Given the description of an element on the screen output the (x, y) to click on. 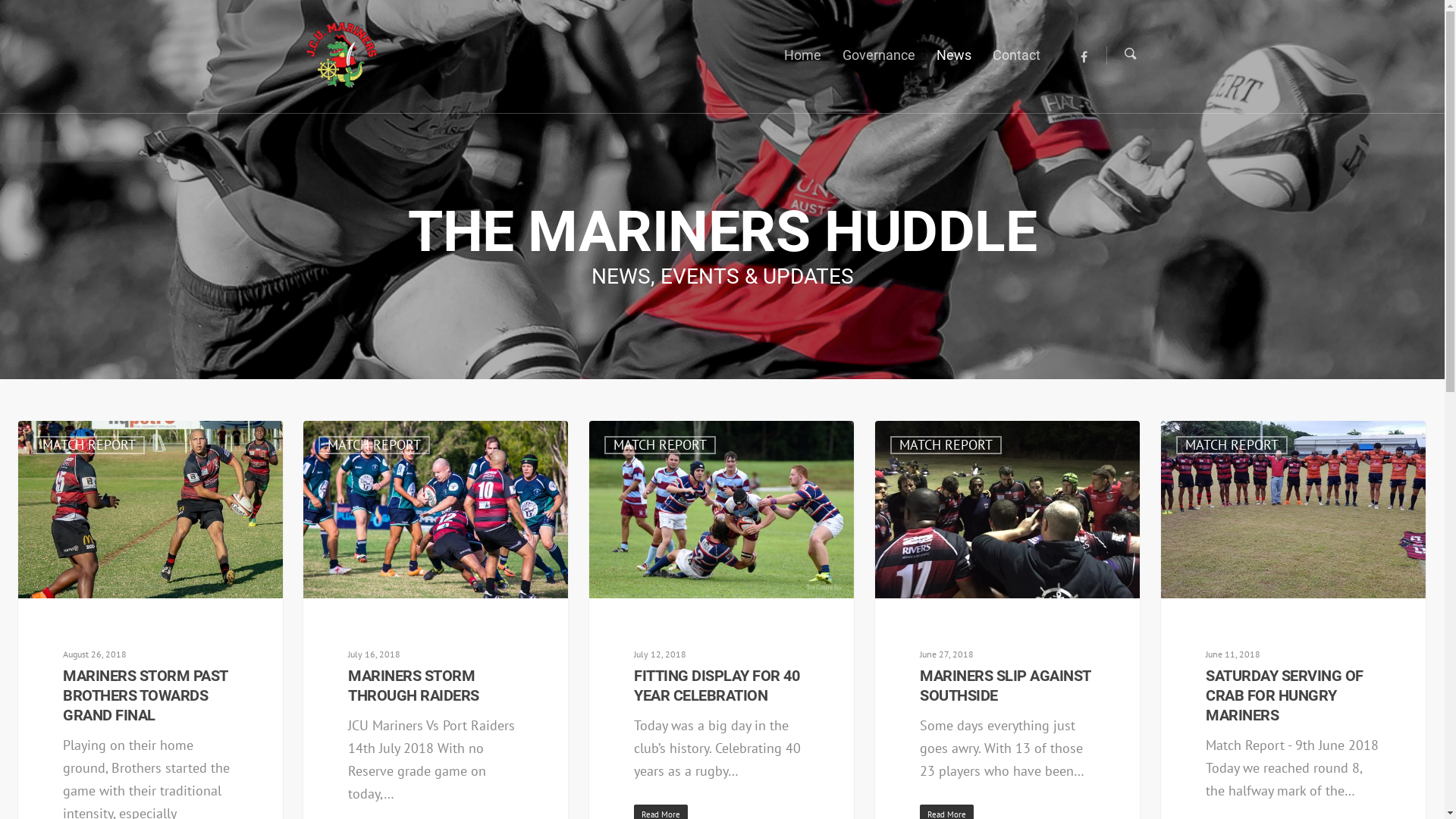
News Element type: text (953, 65)
MATCH REPORT Element type: text (659, 445)
MATCH REPORT Element type: text (945, 445)
Home Element type: text (801, 65)
MATCH REPORT Element type: text (88, 445)
Contact Element type: text (1016, 65)
MATCH REPORT Element type: text (1231, 445)
Governance Element type: text (878, 65)
MATCH REPORT Element type: text (373, 445)
